Given the description of an element on the screen output the (x, y) to click on. 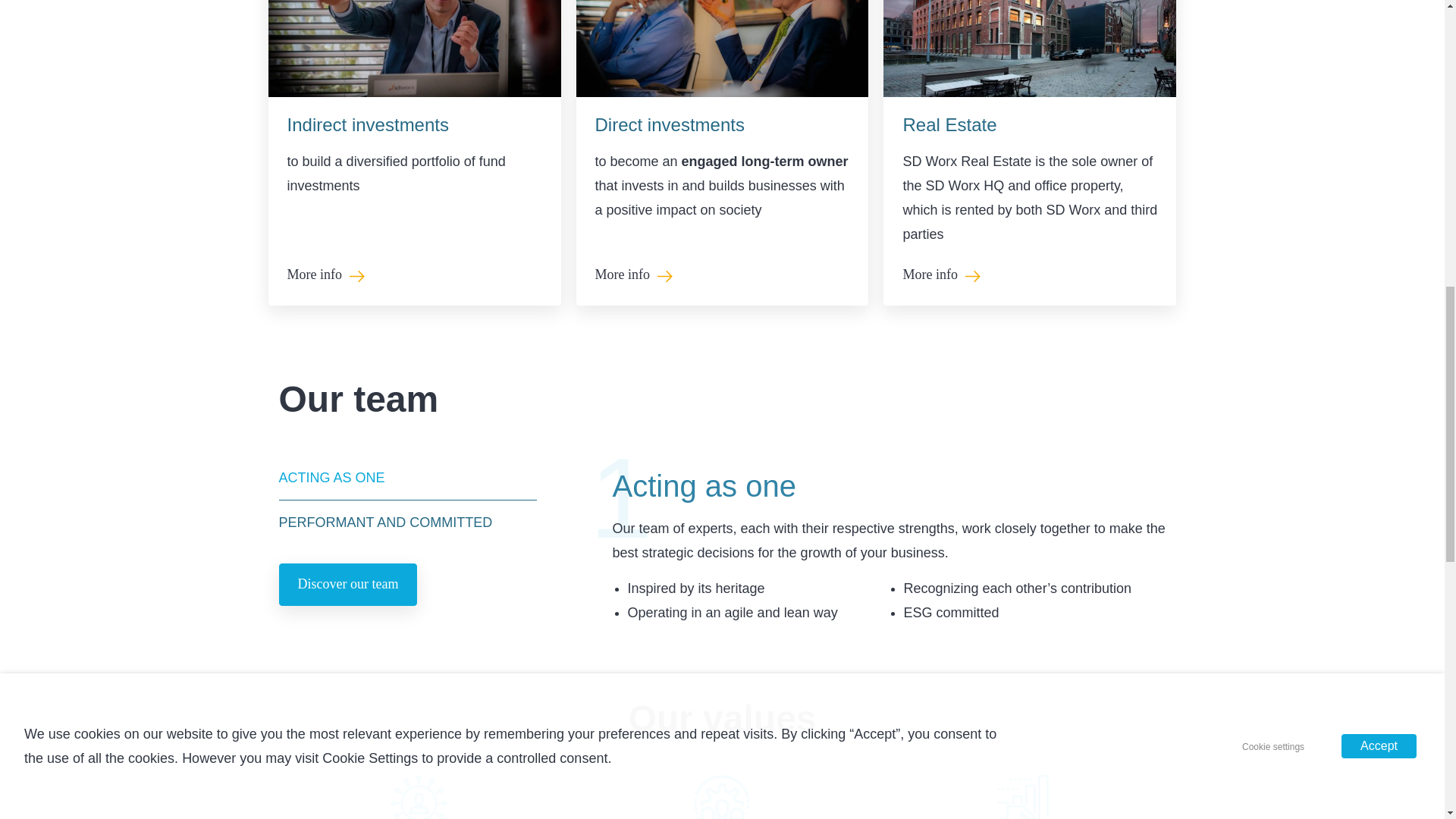
More info (929, 274)
Discover our team (348, 584)
More info (622, 274)
More info (314, 274)
test (1025, 796)
More info (929, 274)
More info (622, 274)
More info (314, 274)
approach (418, 796)
stakeholder (722, 796)
